Given the description of an element on the screen output the (x, y) to click on. 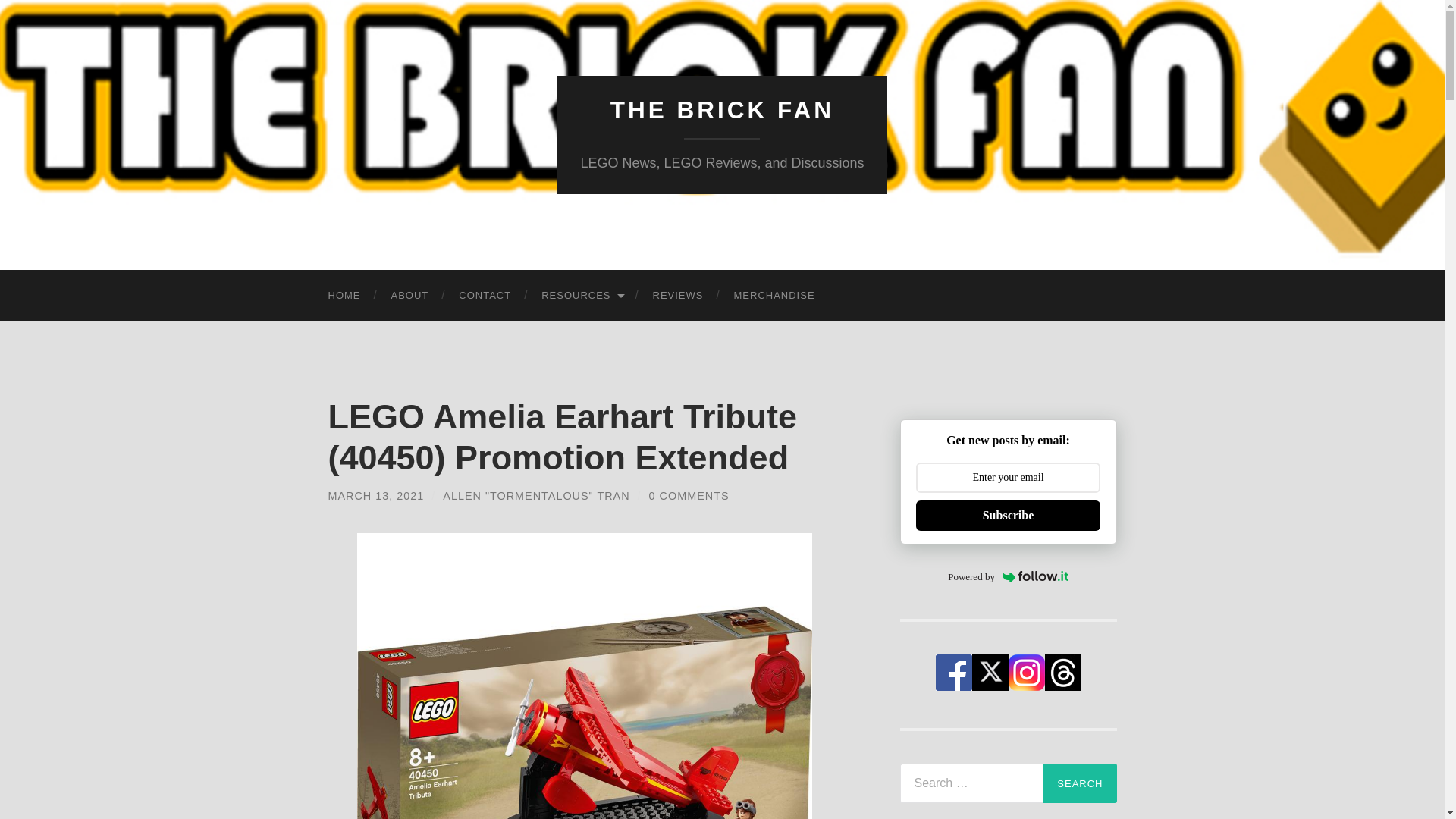
MERCHANDISE (774, 295)
0 COMMENTS (689, 495)
Posts by Allen "Tormentalous" Tran (535, 495)
RESOURCES (581, 295)
THE BRICK FAN (722, 109)
ABOUT (409, 295)
CONTACT (484, 295)
MARCH 13, 2021 (375, 495)
Search (1079, 783)
HOME (344, 295)
REVIEWS (678, 295)
ALLEN "TORMENTALOUS" TRAN (535, 495)
Search (1079, 783)
